Given the description of an element on the screen output the (x, y) to click on. 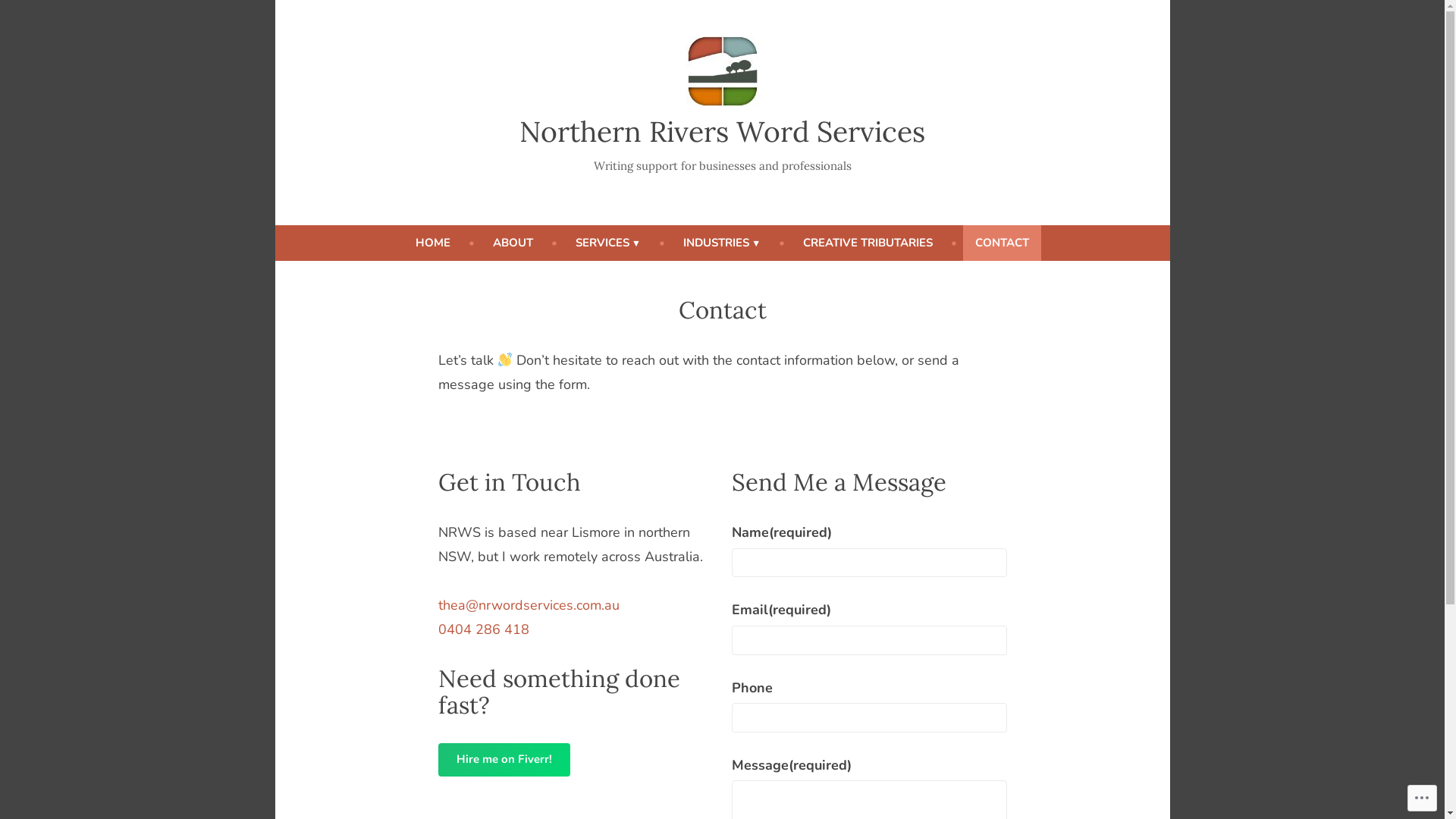
INDUSTRIES Element type: text (721, 242)
SERVICES Element type: text (607, 242)
CONTACT Element type: text (1002, 242)
0404 286 418 Element type: text (483, 629)
Hire me on Fiverr! Element type: text (504, 759)
ABOUT Element type: text (512, 242)
thea@nrwordservices.com.au Element type: text (528, 605)
CREATIVE TRIBUTARIES Element type: text (867, 242)
HOME Element type: text (432, 242)
Northern Rivers Word Services Element type: text (722, 130)
